Given the description of an element on the screen output the (x, y) to click on. 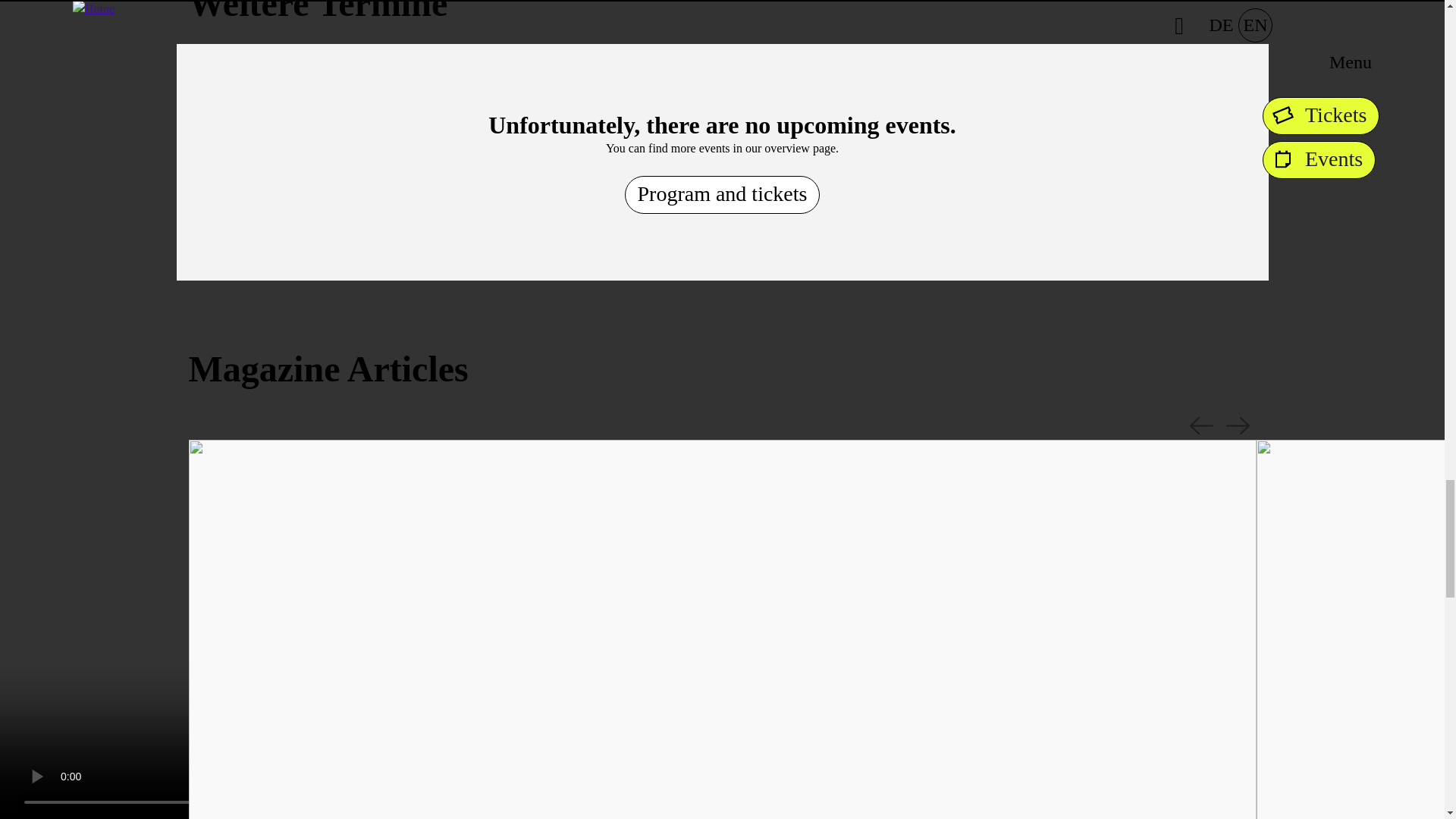
Program and tickets (722, 194)
